Given the description of an element on the screen output the (x, y) to click on. 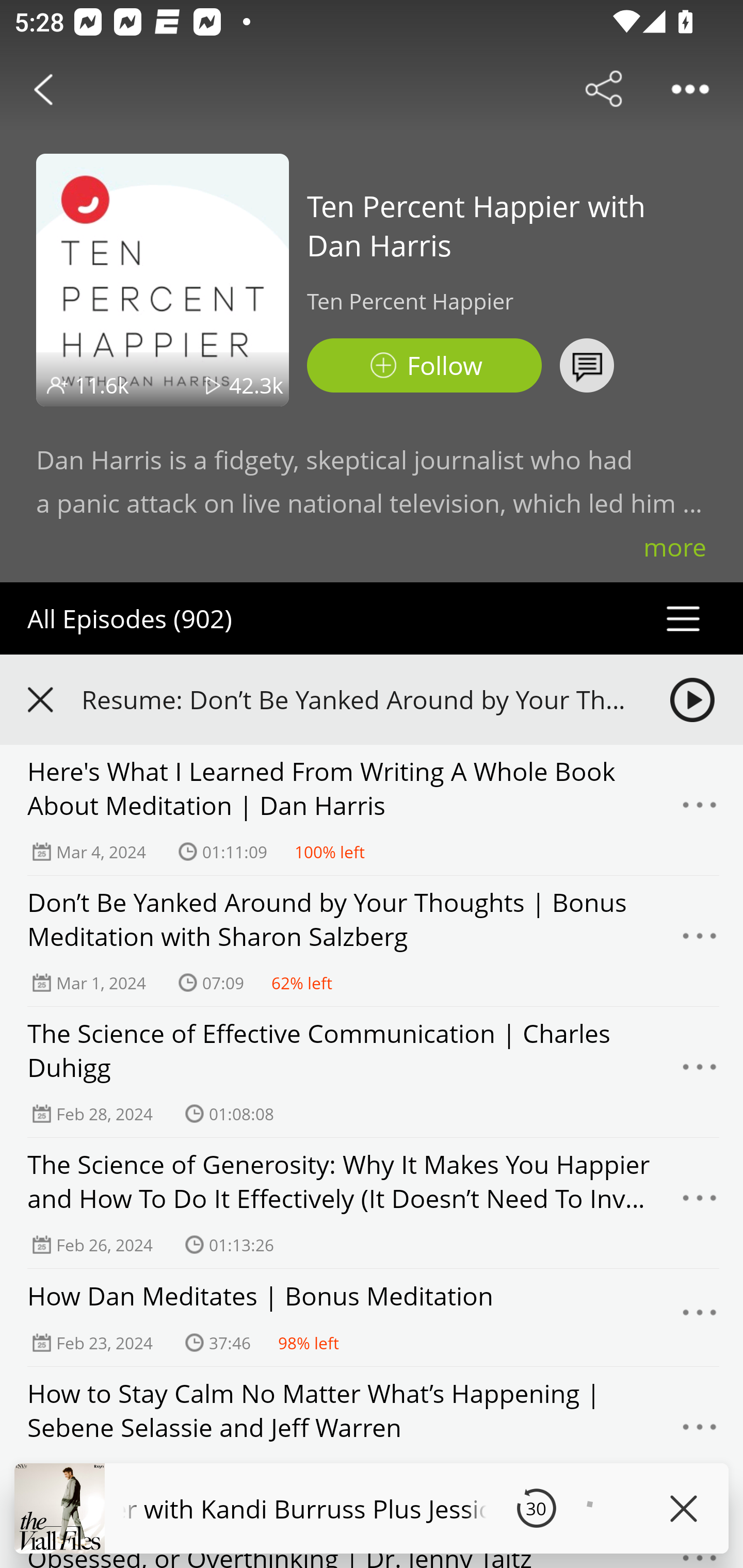
Back (43, 88)
Podbean Follow (423, 365)
11.6k (102, 384)
more (674, 546)
Menu (699, 809)
Menu (699, 941)
Menu (699, 1072)
Menu (699, 1203)
Menu (699, 1317)
Menu (699, 1432)
30 Seek Backward (536, 1508)
